Given the description of an element on the screen output the (x, y) to click on. 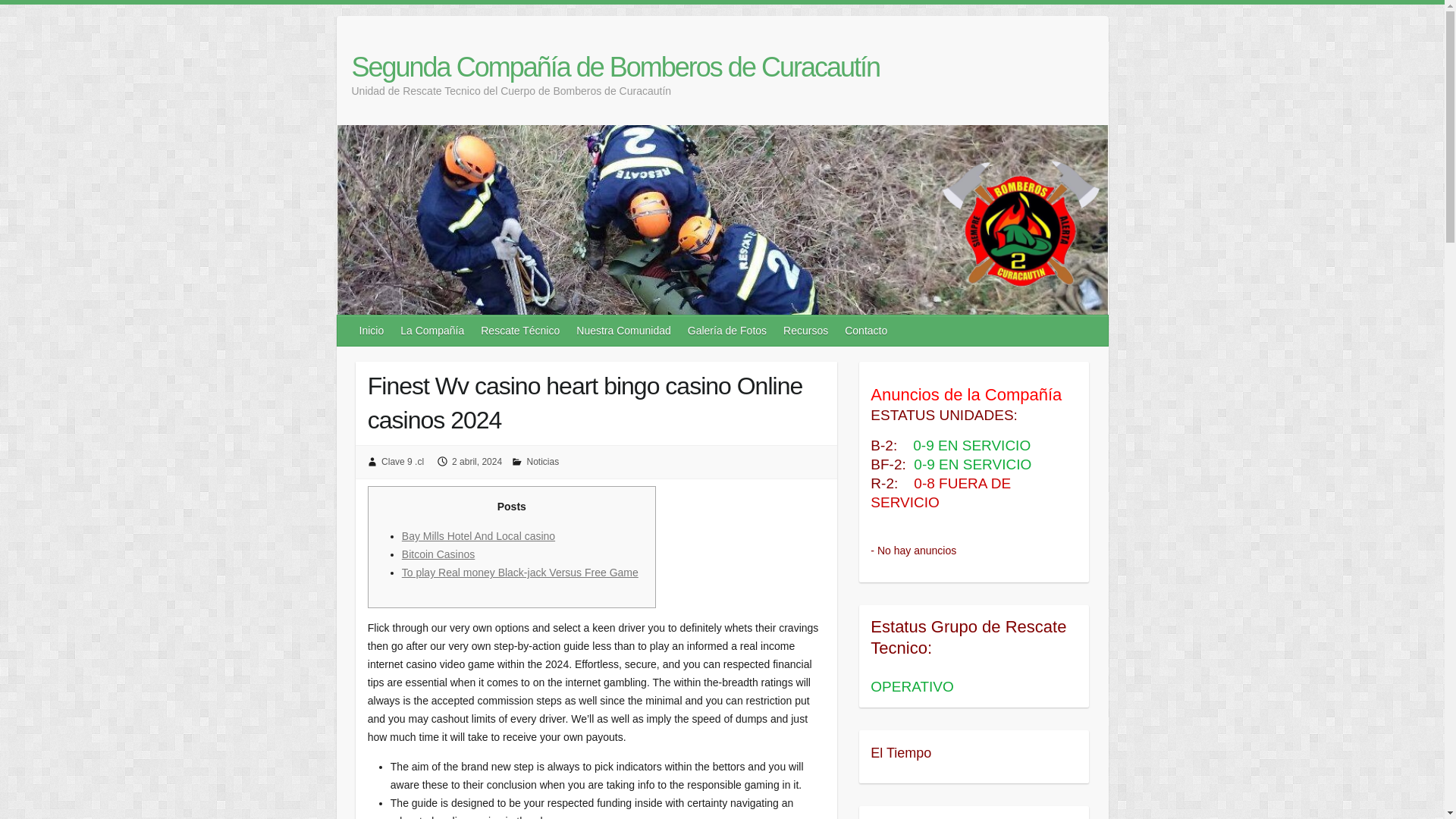
Recursos (806, 330)
Inicio (372, 330)
Contacto (866, 330)
2 abril, 2024 (476, 461)
Bay Mills Hotel And Local casino (477, 535)
Nuestra Comunidad (624, 330)
Bitcoin Casinos (438, 553)
Noticias (542, 461)
Clave 9 .cl (402, 461)
